Given the description of an element on the screen output the (x, y) to click on. 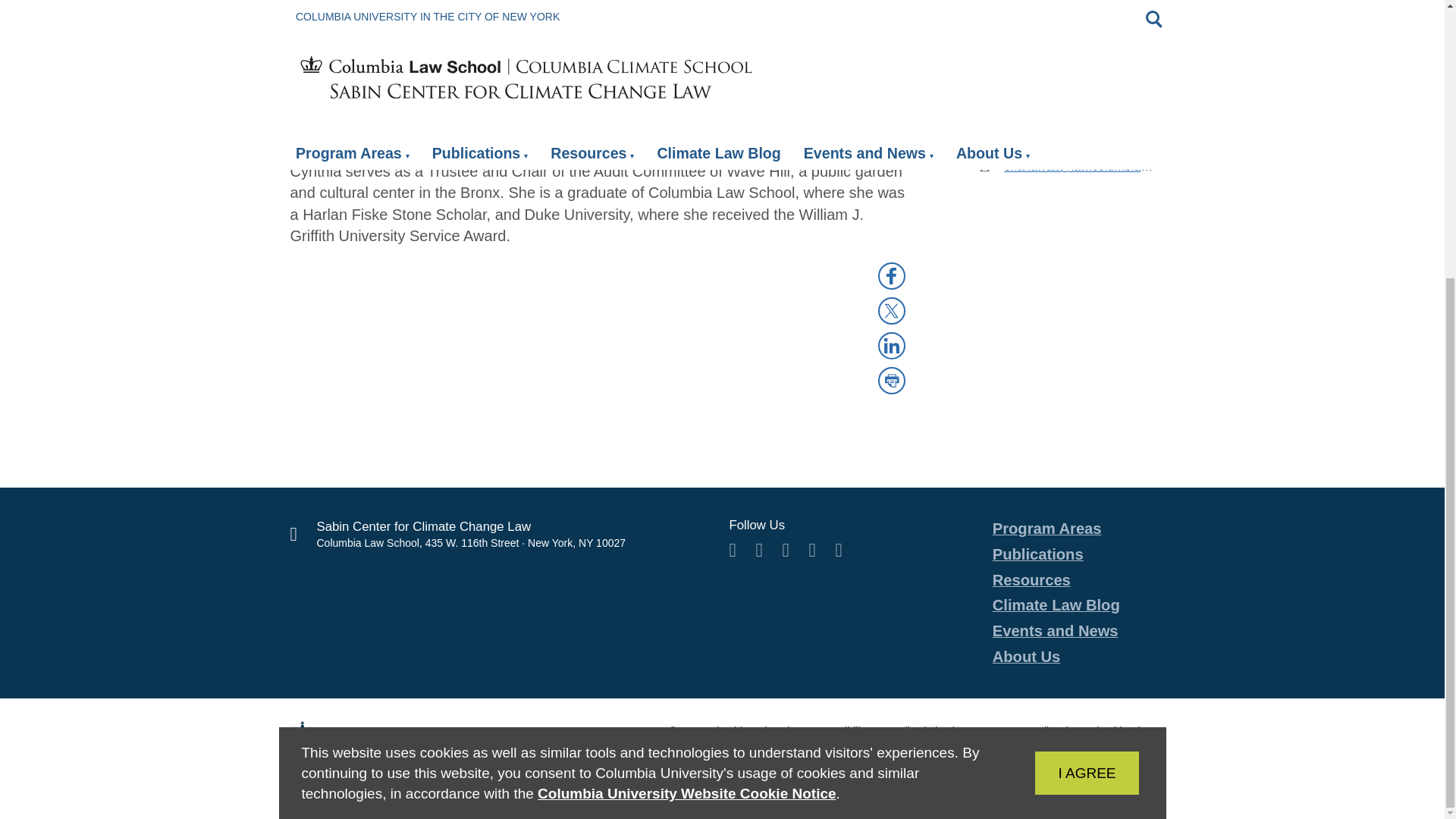
LinkedIn (891, 345)
X (891, 310)
Facebook (891, 275)
Print (891, 380)
